Given the description of an element on the screen output the (x, y) to click on. 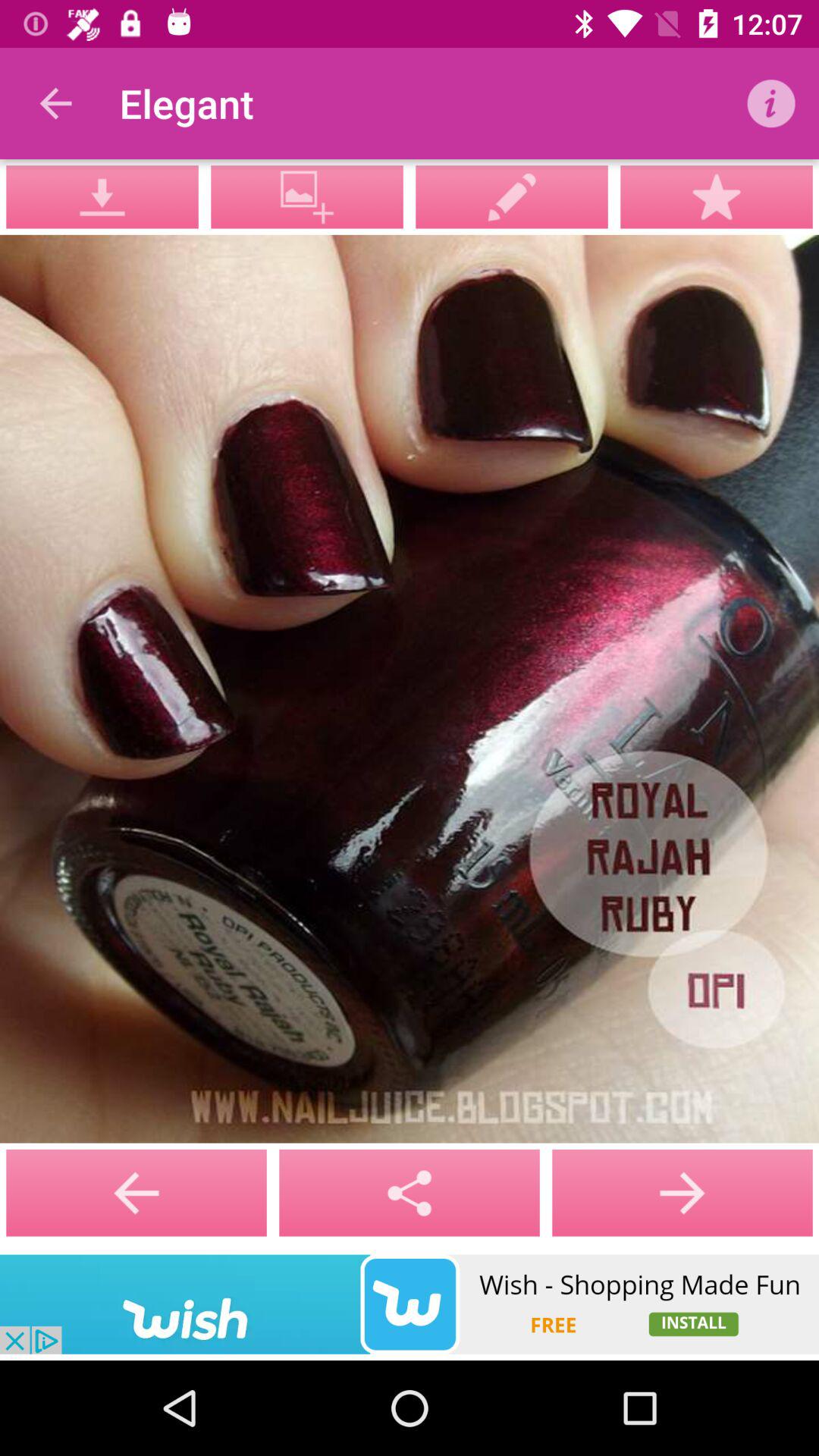
advertisement page (409, 1304)
